Given the description of an element on the screen output the (x, y) to click on. 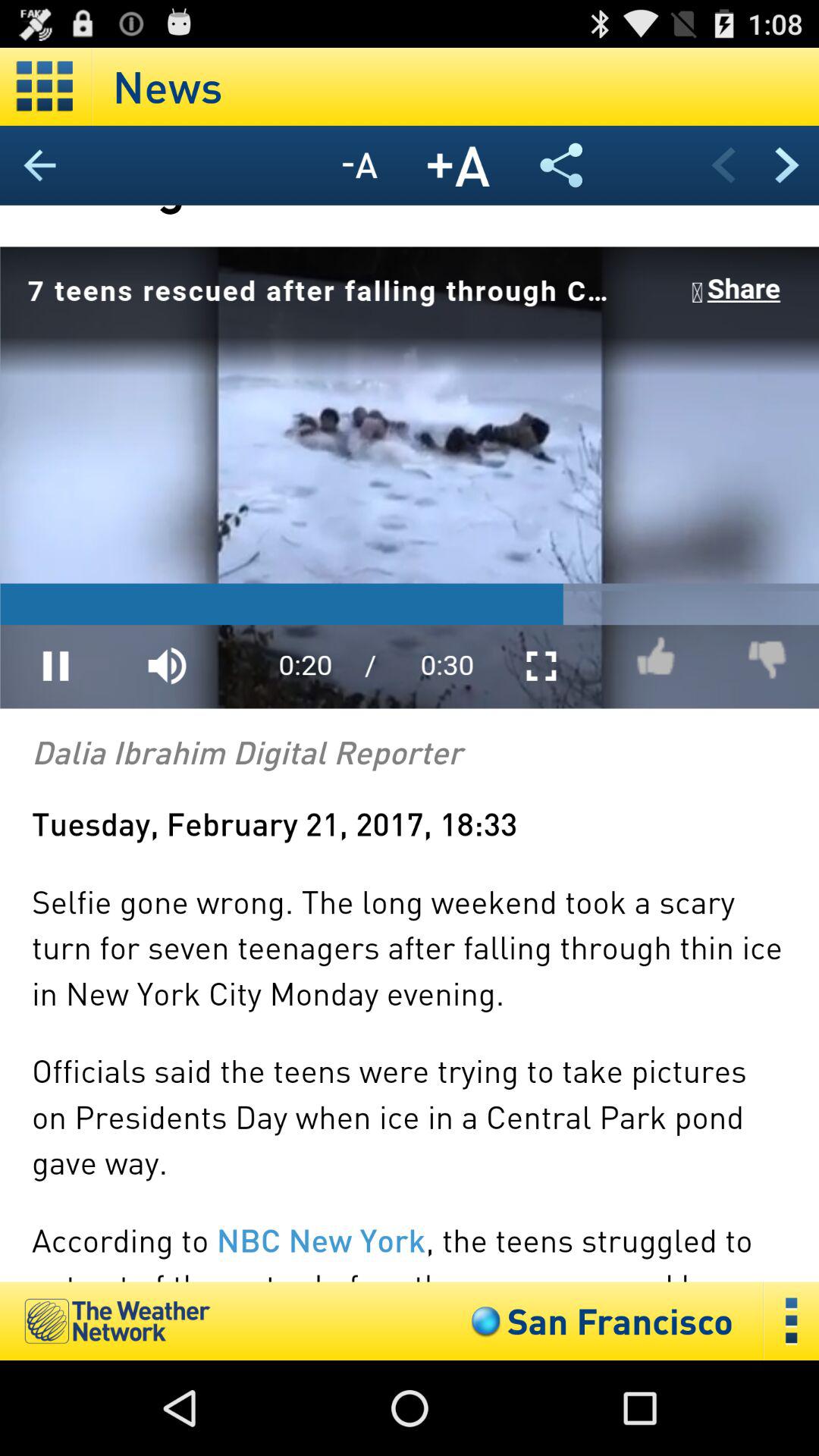
make text smaller (359, 165)
